Given the description of an element on the screen output the (x, y) to click on. 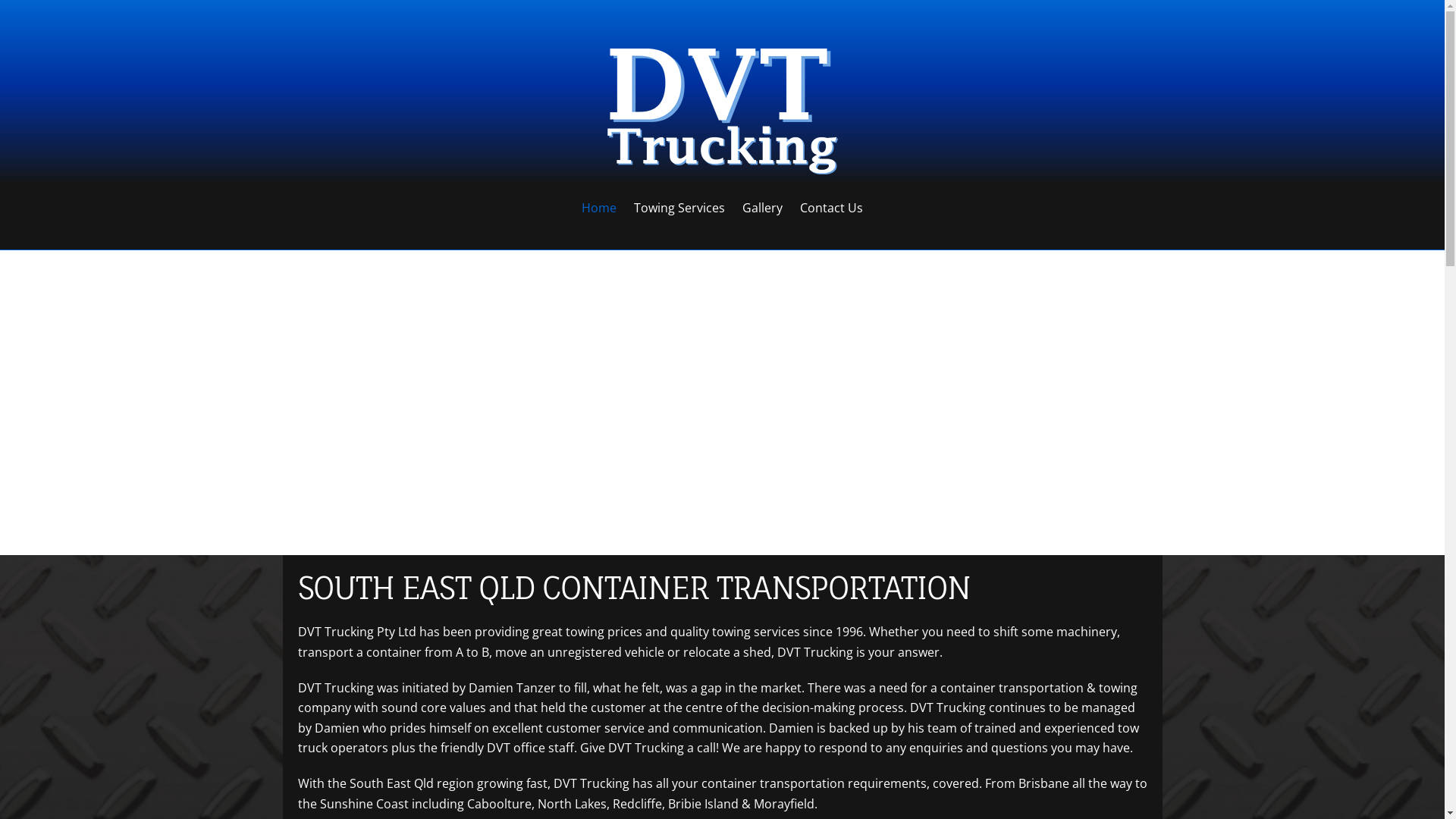
Contact Us Element type: text (831, 207)
Home Element type: text (598, 207)
Gallery Element type: text (762, 207)
Towing Services Element type: text (678, 207)
DVT Trucking Logo Element type: hover (721, 104)
